Given the description of an element on the screen output the (x, y) to click on. 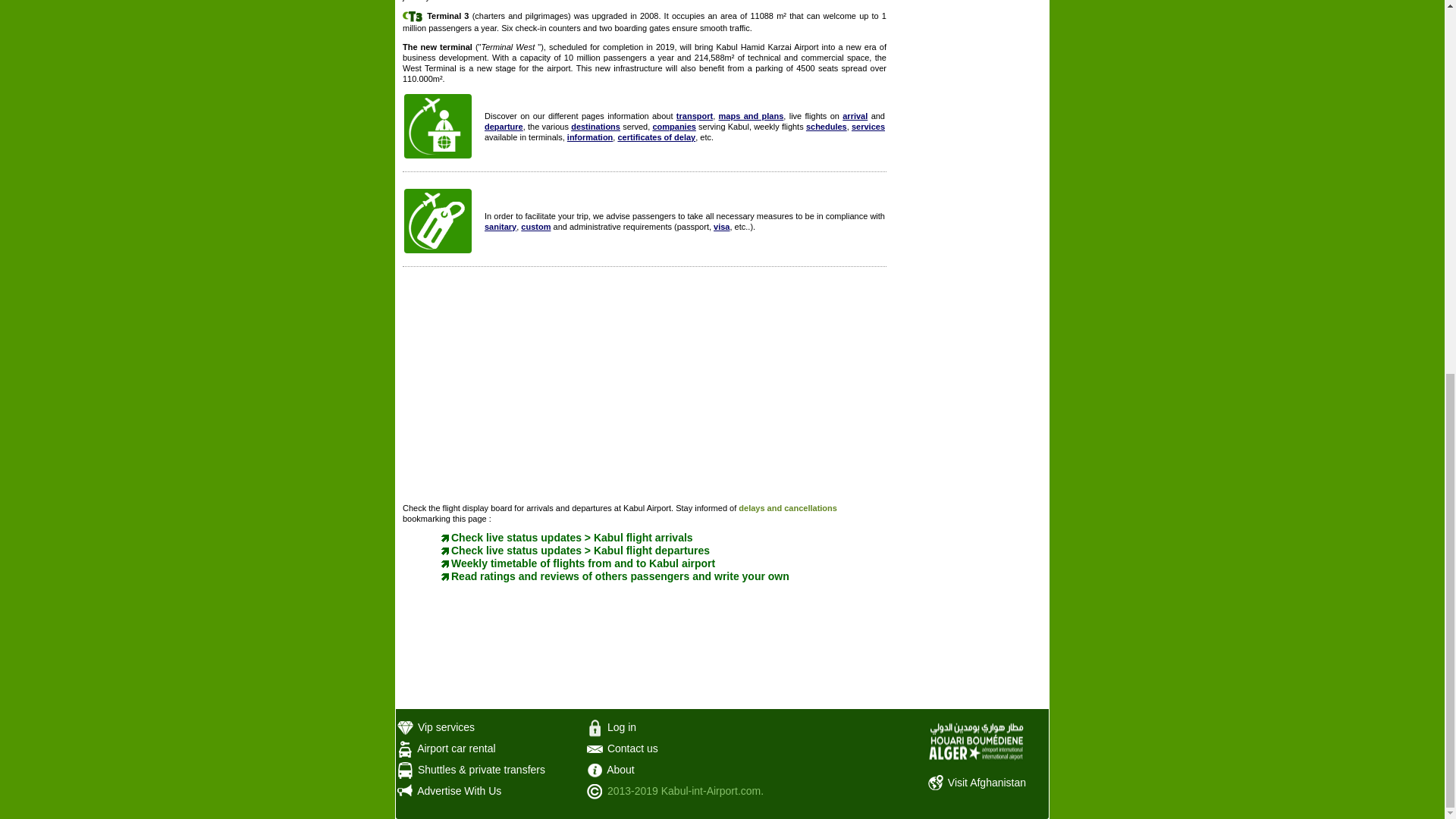
Login (594, 728)
About us (594, 770)
Kabul Airport (975, 744)
Kabul Airport car rental (405, 749)
Advertisement (644, 387)
Terminal 3 (413, 16)
Shuttles and private transfers Kabul (405, 770)
Contact Kaboul Airport (594, 748)
copyright (594, 791)
Advertise with us (405, 791)
